Given the description of an element on the screen output the (x, y) to click on. 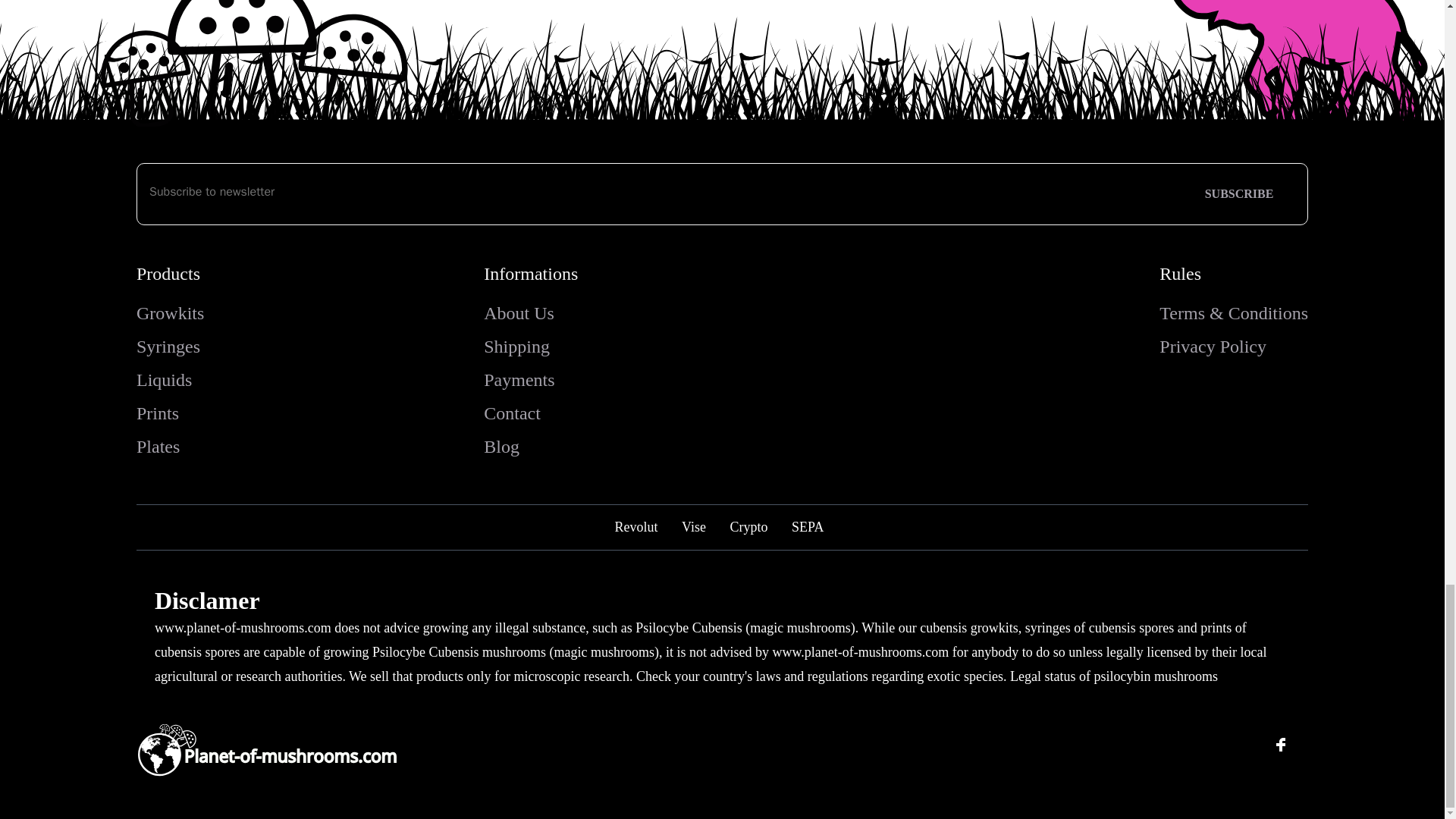
Liquids (164, 379)
Growkits (169, 312)
Contact (511, 413)
Shipping (516, 346)
Blog (501, 446)
Prints (157, 413)
Privacy Policy (1212, 346)
Plates (157, 446)
Payments (518, 379)
About Us (518, 312)
Syringes (168, 346)
SUBSCRIBE (1238, 193)
